Given the description of an element on the screen output the (x, y) to click on. 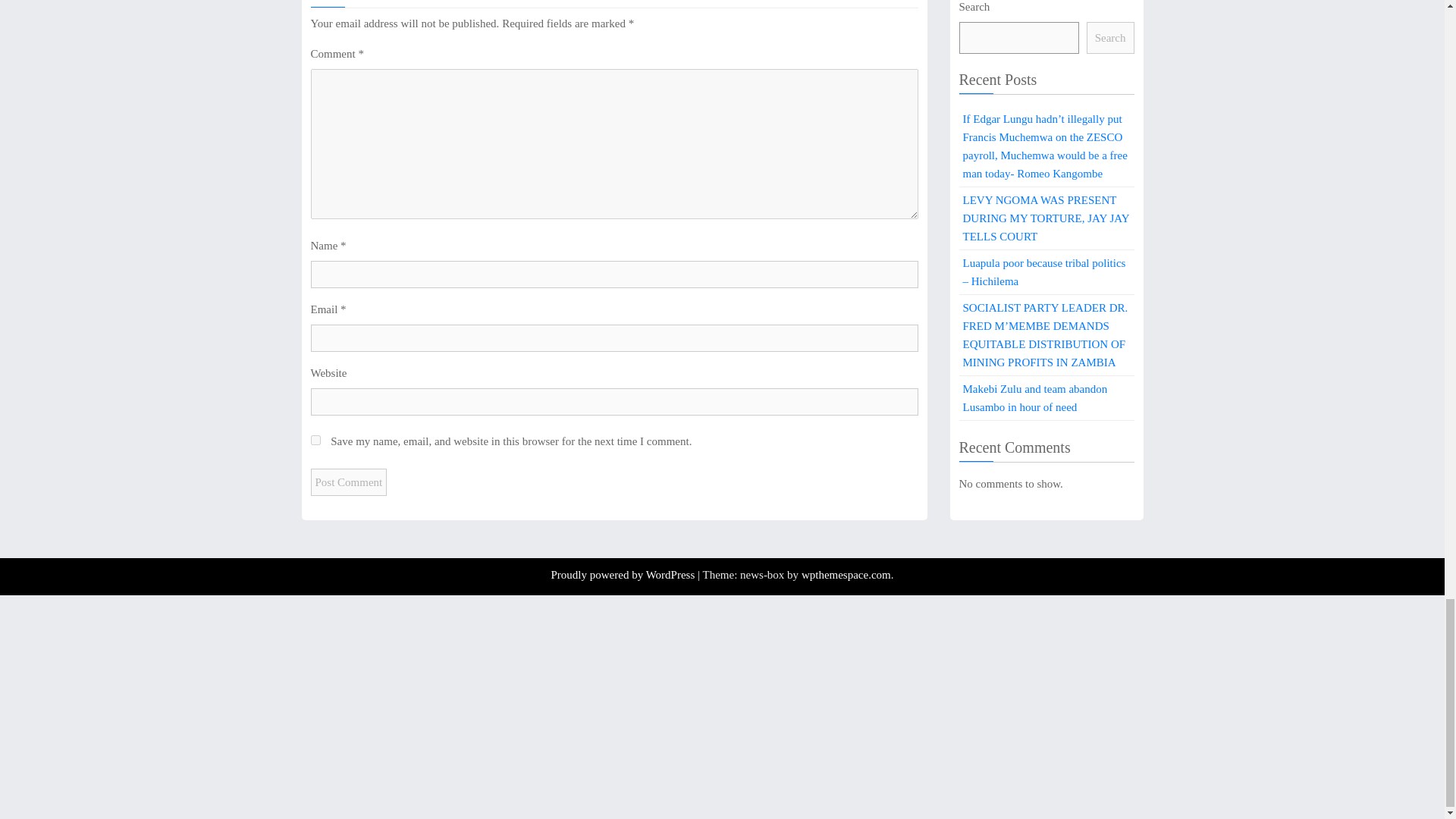
wpthemespace.com (846, 574)
Post Comment (349, 482)
yes (315, 439)
Proudly powered by WordPress (623, 574)
Post Comment (349, 482)
